Given the description of an element on the screen output the (x, y) to click on. 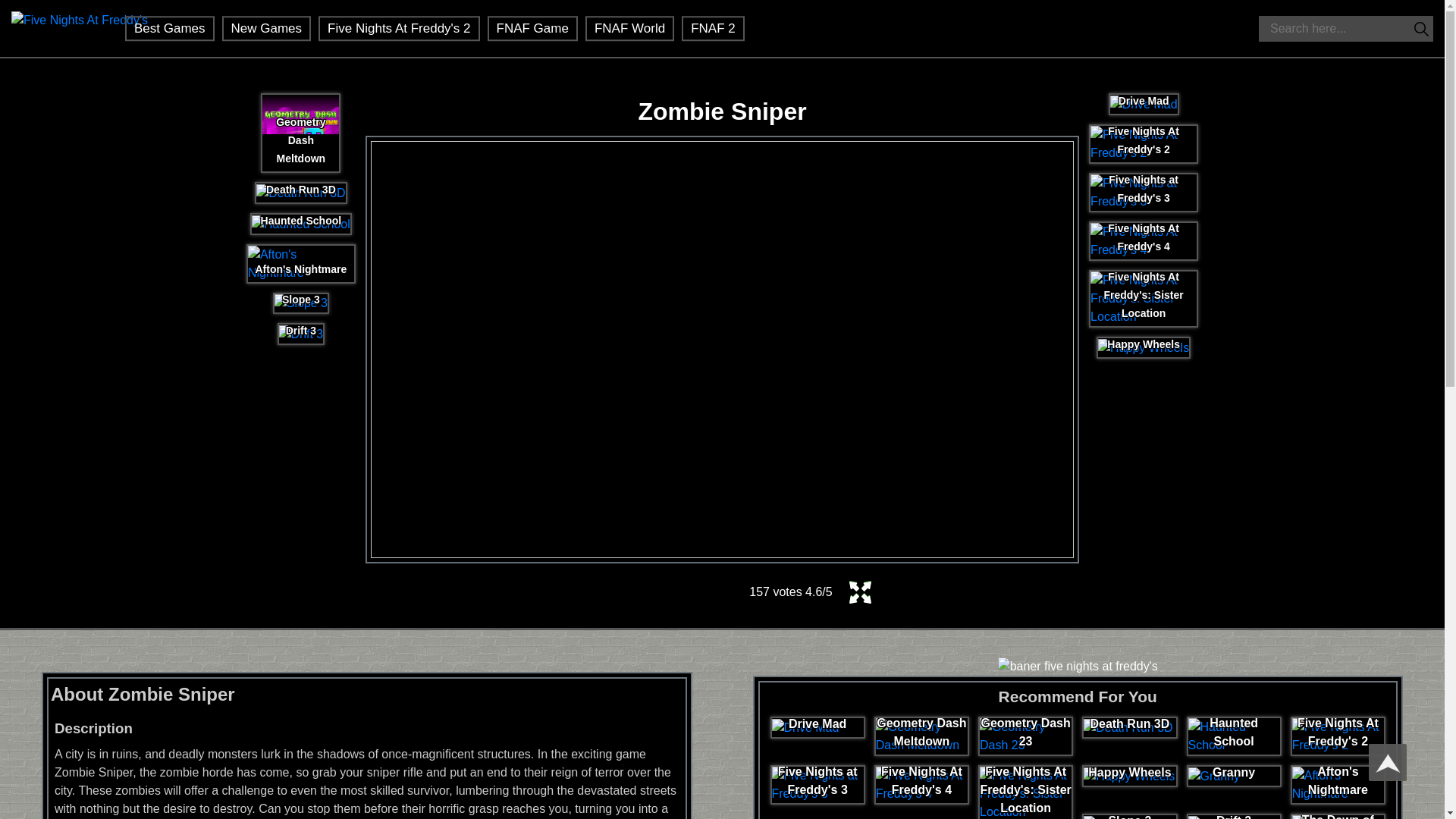
Drift 3 (301, 333)
Slope 3 (300, 303)
Drive Mad (1143, 104)
Slope 3 (301, 303)
New Games (266, 27)
Five Nights At Freddy's (79, 30)
Five Nights At Freddy'S 2 (398, 27)
Happy Wheels (1143, 347)
Five Nights at Freddy's 3 (1143, 192)
Afton's Nightmare (300, 263)
Drift 3 (301, 334)
FNAF 2 (712, 27)
Drive Mad (1143, 104)
Five Nights At Freddy's: Sister Location (1143, 298)
FNAF Game (532, 27)
